Given the description of an element on the screen output the (x, y) to click on. 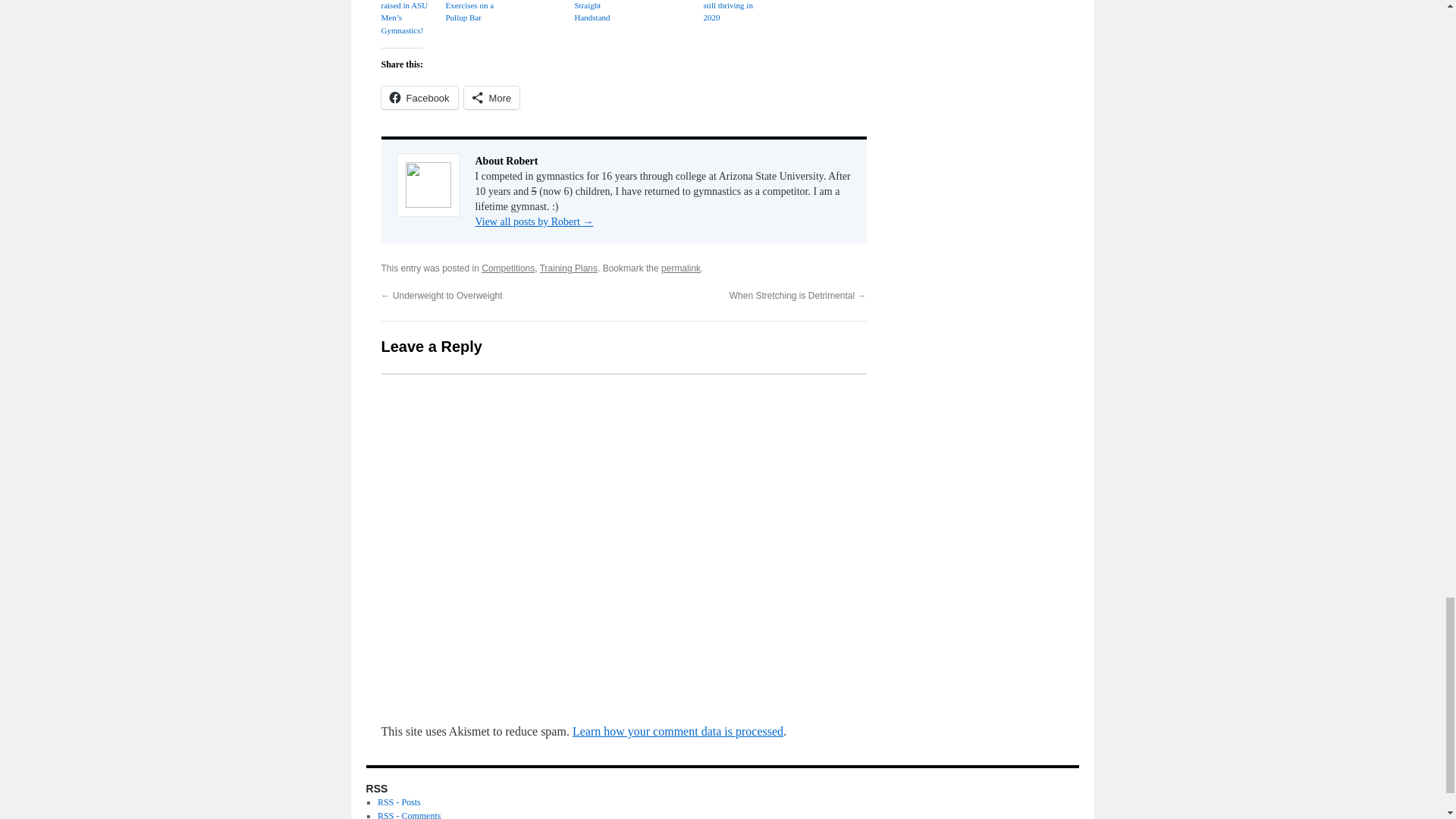
Click to share on Facebook (418, 97)
Facebook (418, 97)
How to Hold a Straight Handstand (603, 12)
10 At Home Exercises on a Pullup Bar (473, 12)
More (491, 97)
Subscribe to posts (398, 801)
Subscribe to comments (409, 814)
Training Plans (568, 267)
